Given the description of an element on the screen output the (x, y) to click on. 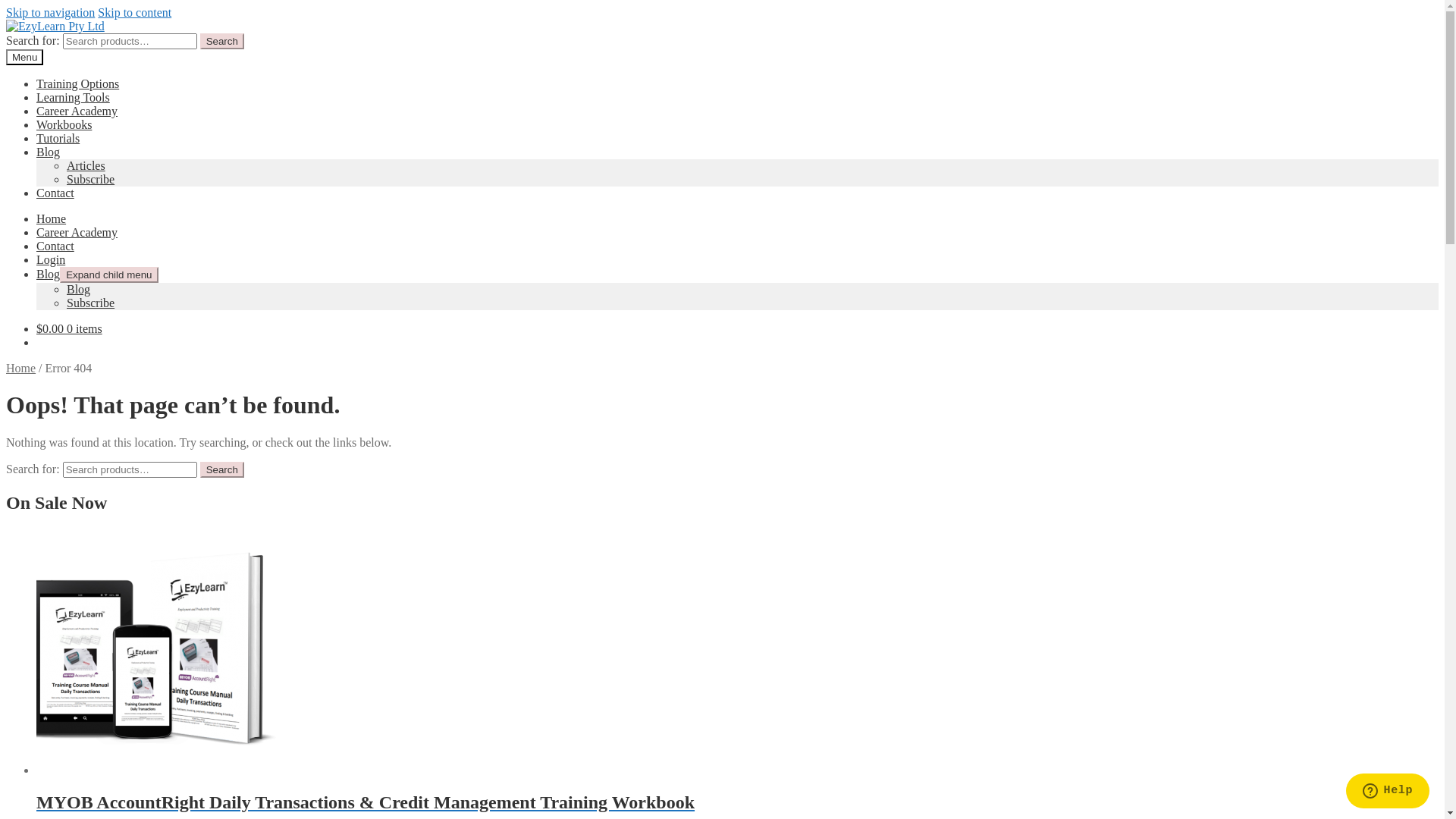
Blog Element type: text (47, 151)
Login Element type: text (50, 259)
Contact Element type: text (55, 192)
Training Options Element type: text (77, 83)
Home Element type: text (50, 218)
$0.00 0 items Element type: text (69, 328)
Tutorials Element type: text (57, 137)
Search Element type: text (222, 469)
Menu Element type: text (24, 57)
Home Element type: text (20, 367)
Articles Element type: text (85, 165)
Skip to navigation Element type: text (50, 12)
Expand child menu Element type: text (108, 274)
Subscribe Element type: text (90, 302)
Blog Element type: text (78, 288)
Subscribe Element type: text (90, 178)
Career Academy Element type: text (76, 231)
Learning Tools Element type: text (72, 97)
Opens a widget where you can chat to one of our agents Element type: hover (1387, 792)
Career Academy Element type: text (76, 110)
Search Element type: text (222, 41)
Contact Element type: text (55, 245)
Skip to content Element type: text (134, 12)
Blog Element type: text (47, 273)
Workbooks Element type: text (63, 124)
